Given the description of an element on the screen output the (x, y) to click on. 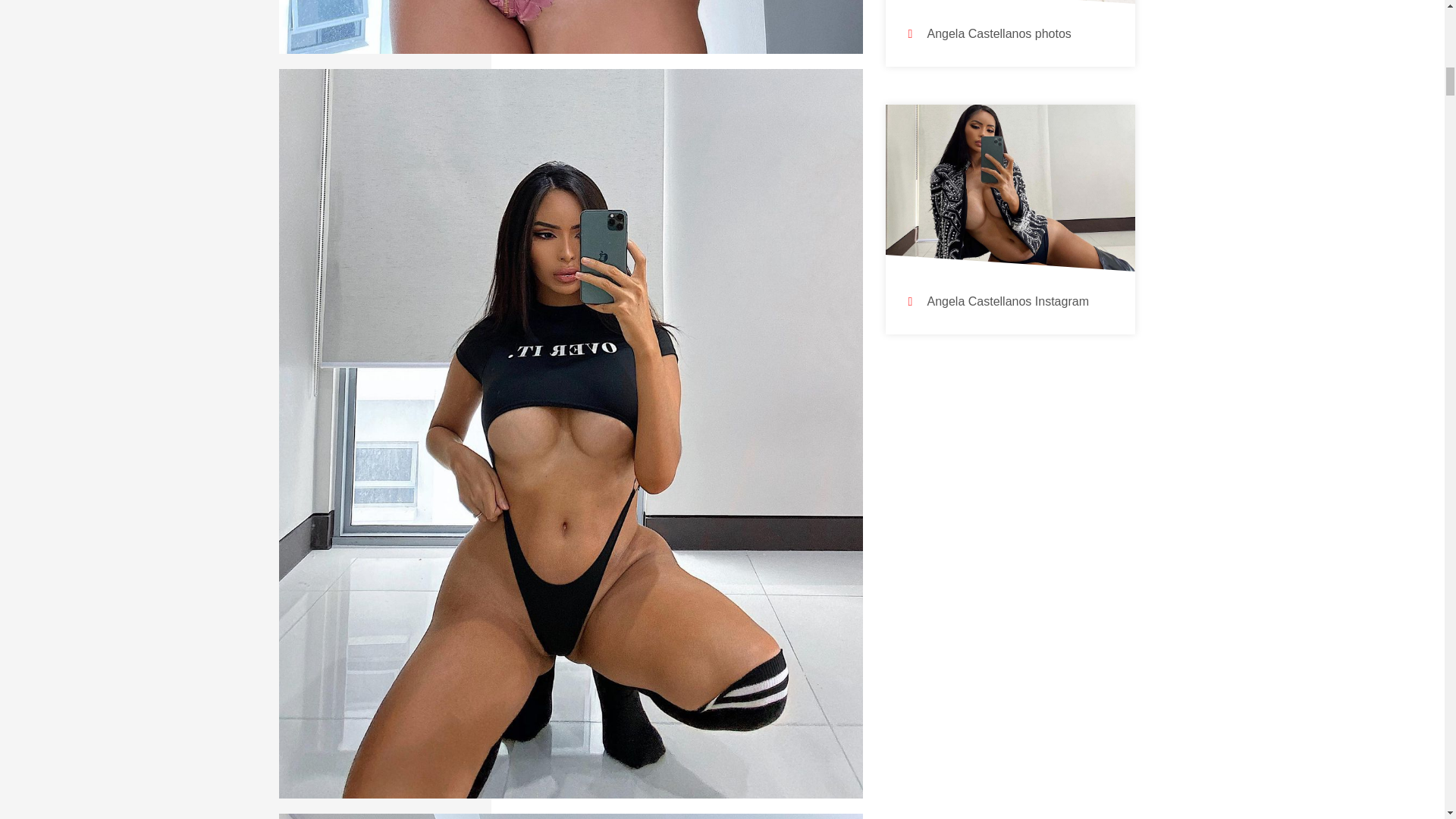
Angela Castellanos photos  (998, 33)
Angela Castellanos Instagram  (1006, 300)
